Given the description of an element on the screen output the (x, y) to click on. 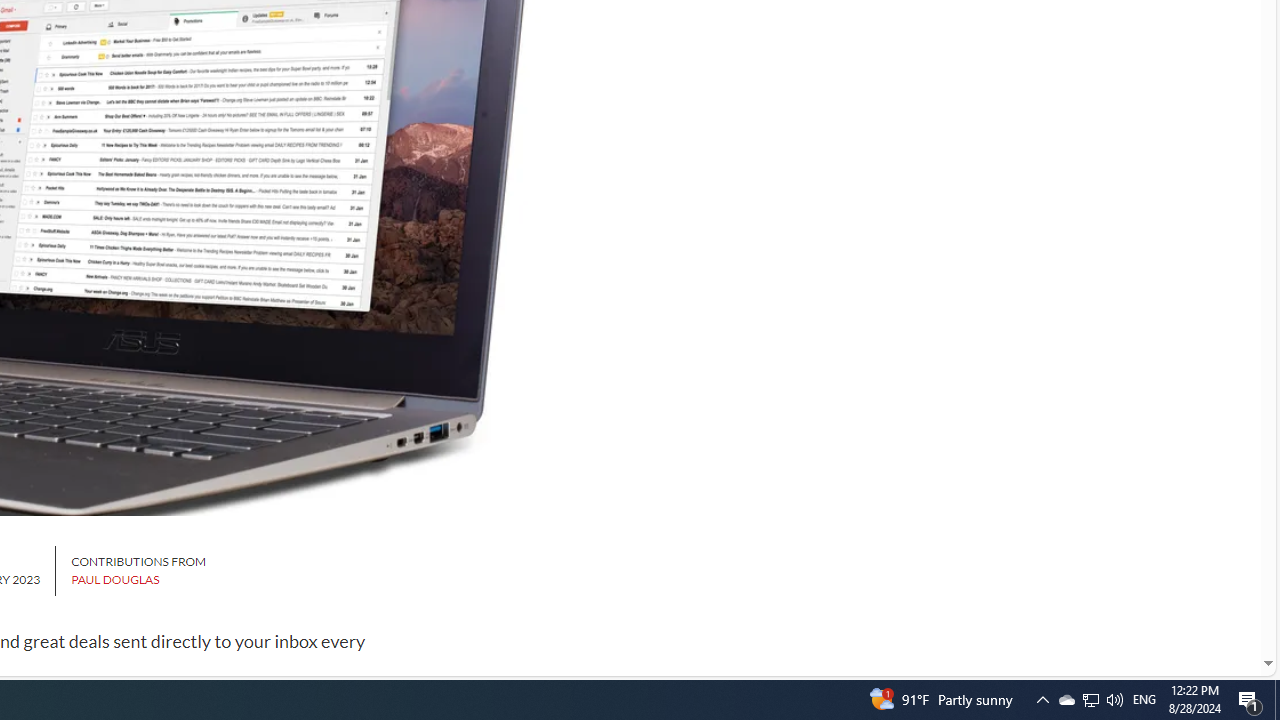
PAUL DOUGLAS (115, 579)
